Given the description of an element on the screen output the (x, y) to click on. 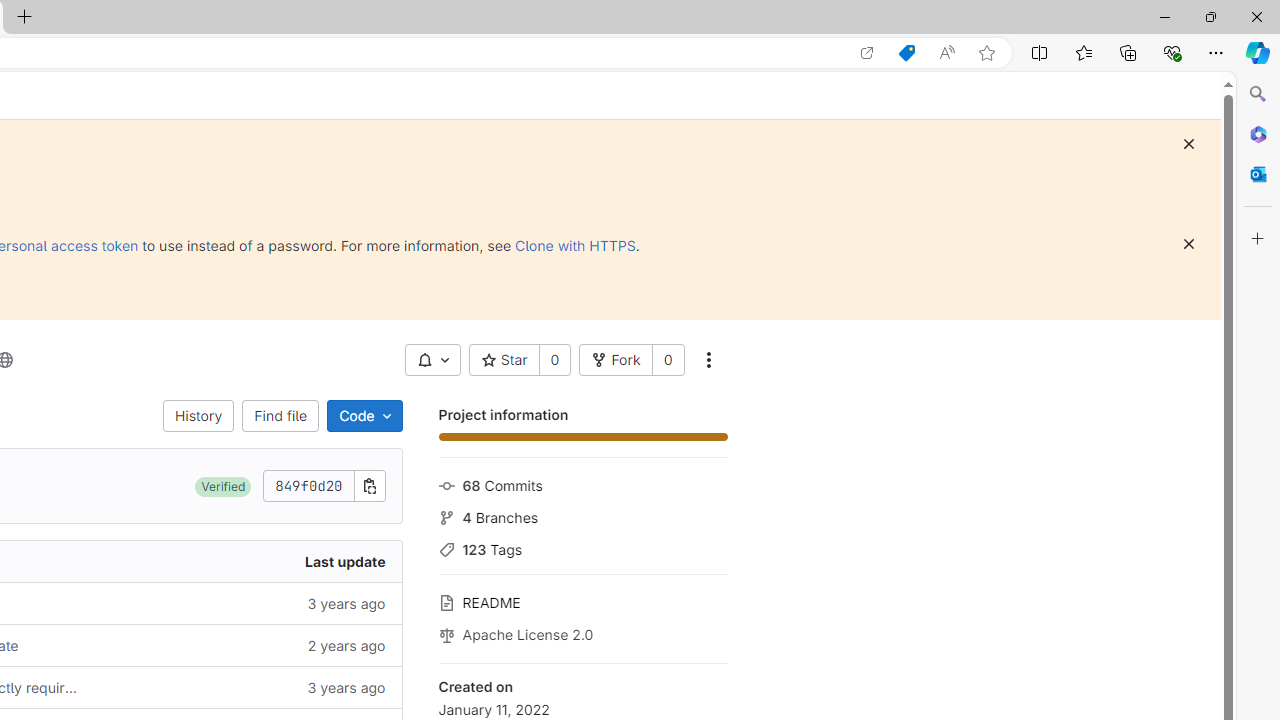
3 years ago (247, 687)
More actions (708, 359)
Apache License 2.0 (582, 633)
4 Branches (582, 515)
Copy commit SHA (369, 485)
Class: s16 icon gl-mr-3 gl-text-gray-500 (445, 634)
README (582, 600)
AutomationID: __BVID__303__BV_toggle_ (432, 359)
Find file (280, 416)
123 Tags (582, 548)
